Given the description of an element on the screen output the (x, y) to click on. 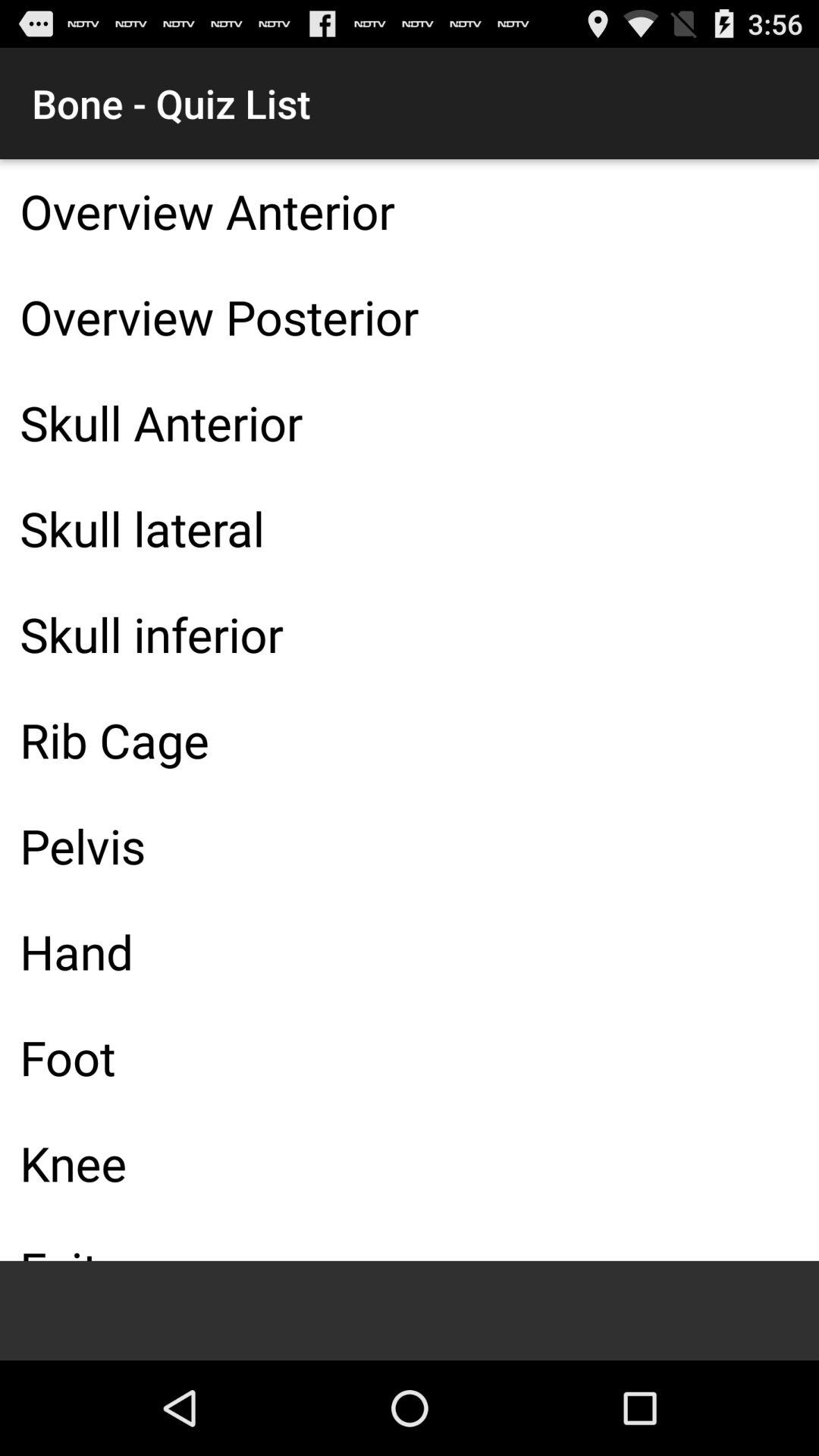
turn off icon above hand (409, 845)
